Given the description of an element on the screen output the (x, y) to click on. 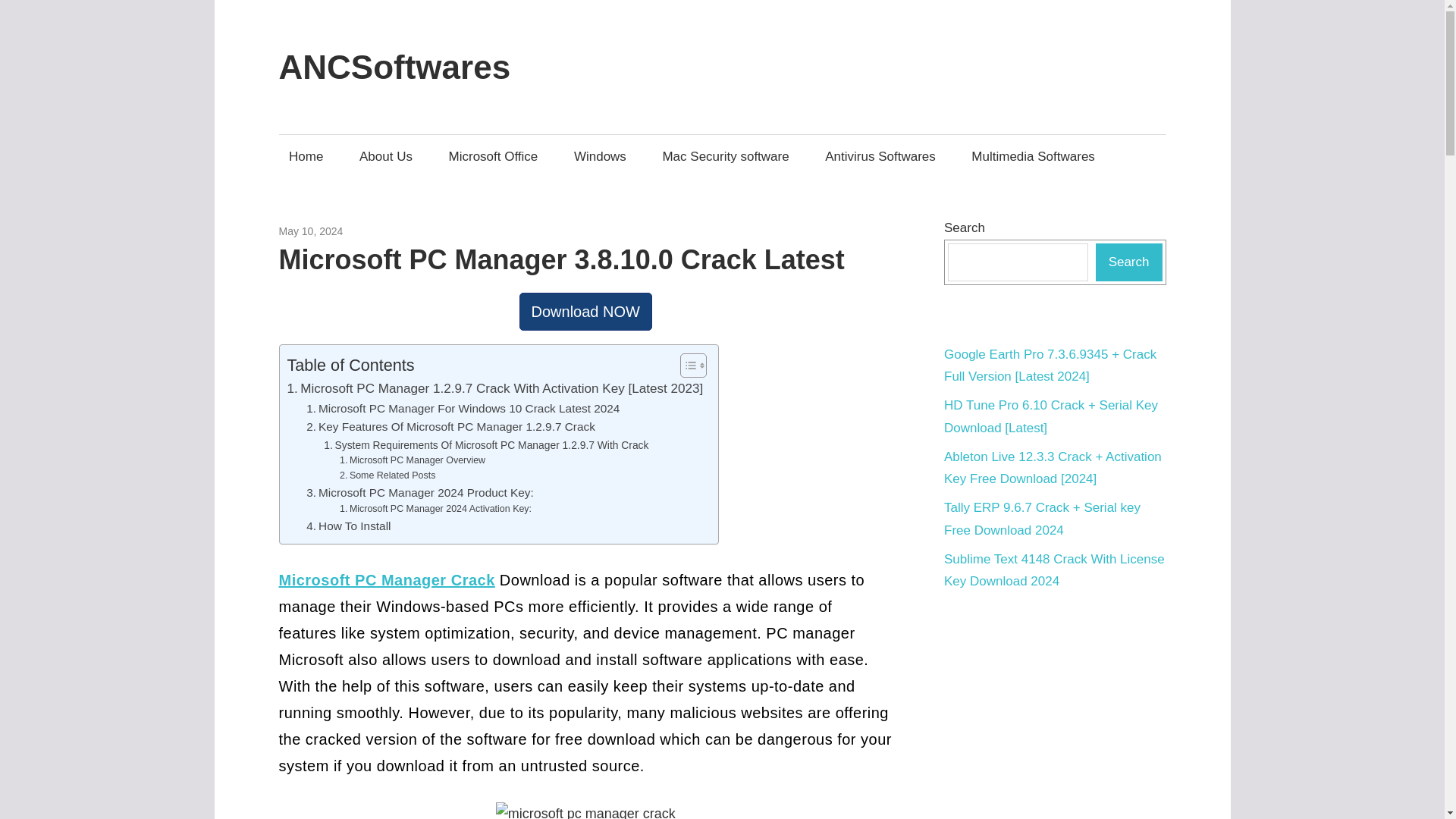
Microsoft PC Manager Crack (387, 579)
3:57 am (311, 231)
How To Install (347, 526)
Mac Security software (725, 156)
Microsoft Office (493, 156)
Antivirus Softwares (880, 156)
Windows (599, 156)
May 10, 2024 (311, 231)
Key Features Of Microsoft PC Manager 1.2.9.7 Crack (450, 426)
Other Tools (369, 231)
Microsoft PC Manager For Windows 10 Crack Latest 2024 (462, 408)
Microsoft PC Manager For Windows 10 Crack Latest 2024 (462, 408)
ANCSoftwares (395, 66)
Microsoft PC Manager Overview (411, 460)
